Given the description of an element on the screen output the (x, y) to click on. 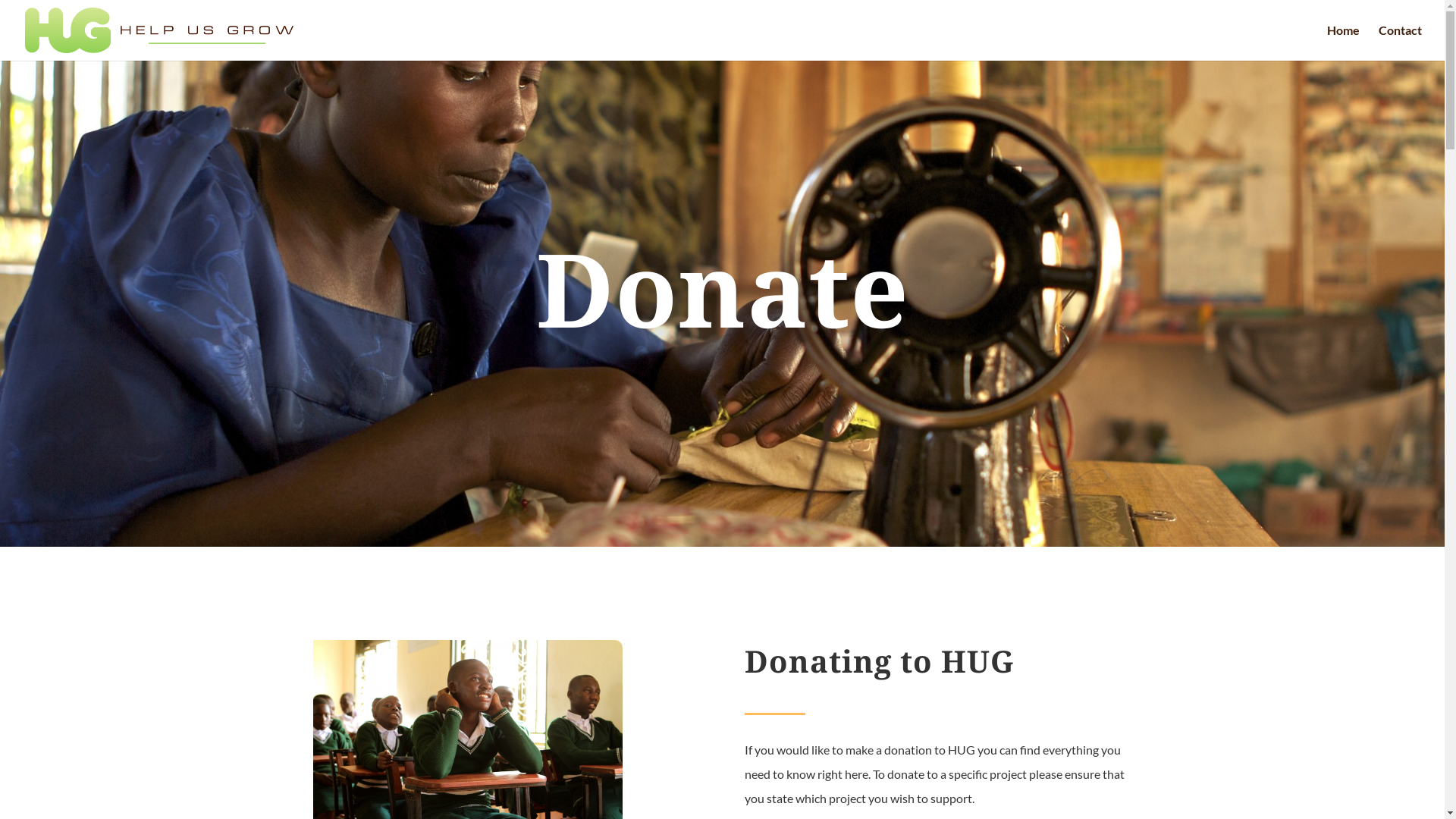
Home Element type: text (1343, 42)
Contact Element type: text (1399, 42)
